Given the description of an element on the screen output the (x, y) to click on. 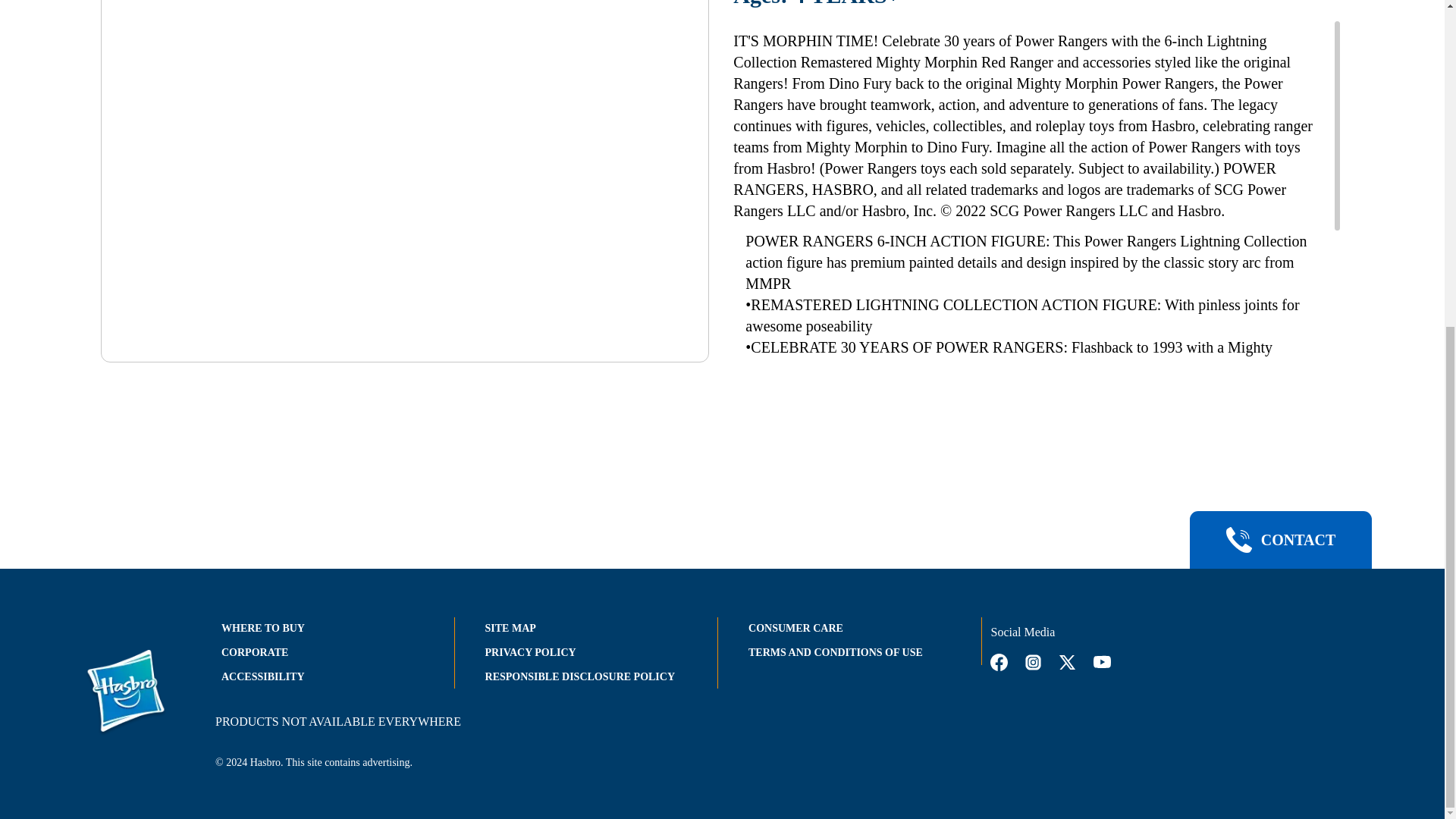
RESPONSIBLE DISCLOSURE POLICY (579, 676)
TERMS AND CONDITIONS OF USE (835, 652)
WHERE TO BUY (262, 627)
ACCESSIBILITY (262, 676)
CORPORATE (254, 652)
SITE MAP (509, 627)
PRIVACY POLICY (530, 652)
CONSUMER CARE (795, 627)
